Given the description of an element on the screen output the (x, y) to click on. 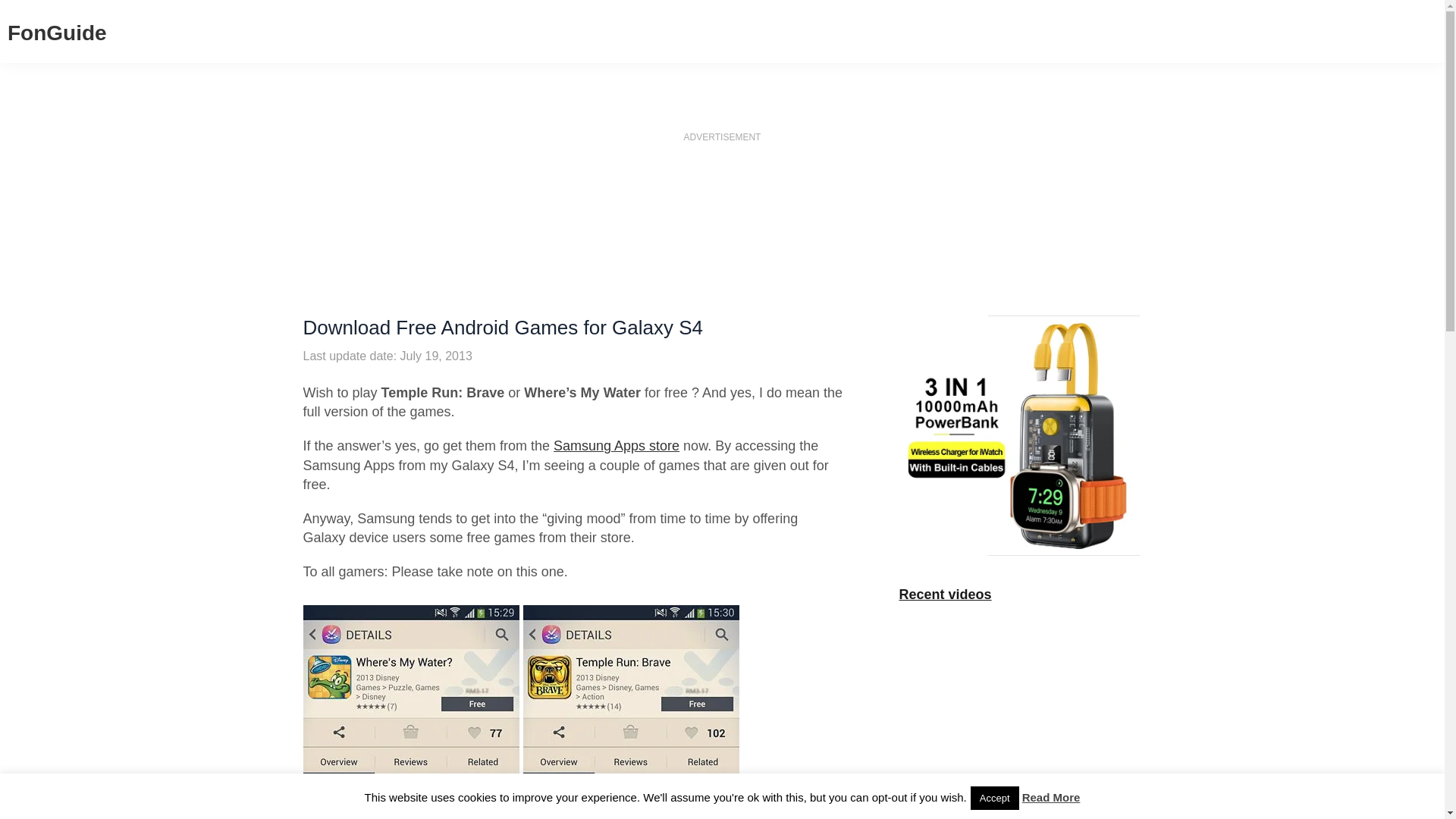
Read More (1051, 797)
Advertisement (721, 253)
Accept (995, 797)
YouTube video player (1019, 683)
Samsung Apps store (616, 445)
FonGuide (56, 33)
